Given the description of an element on the screen output the (x, y) to click on. 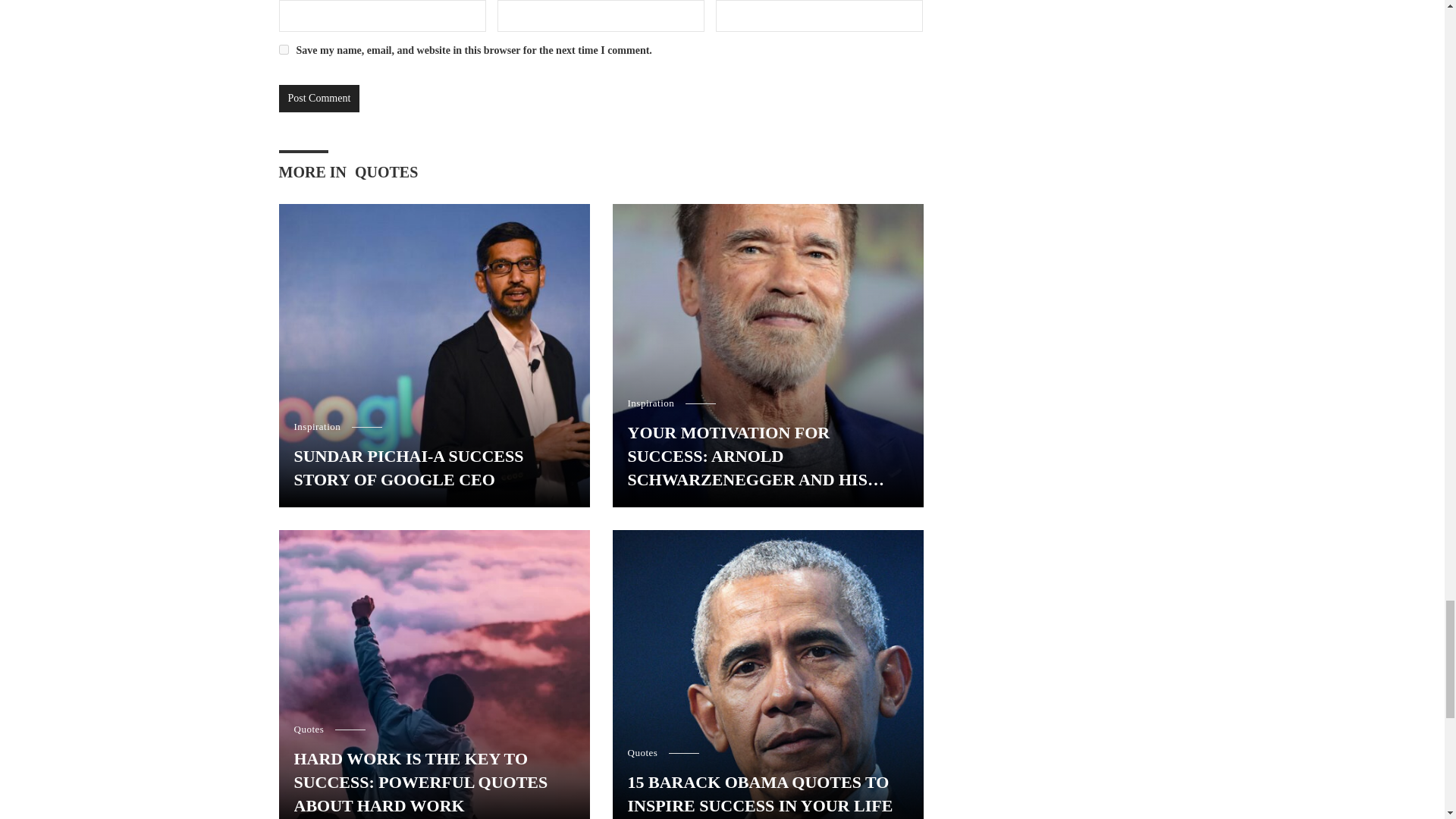
Post Comment (319, 98)
yes (283, 49)
